Given the description of an element on the screen output the (x, y) to click on. 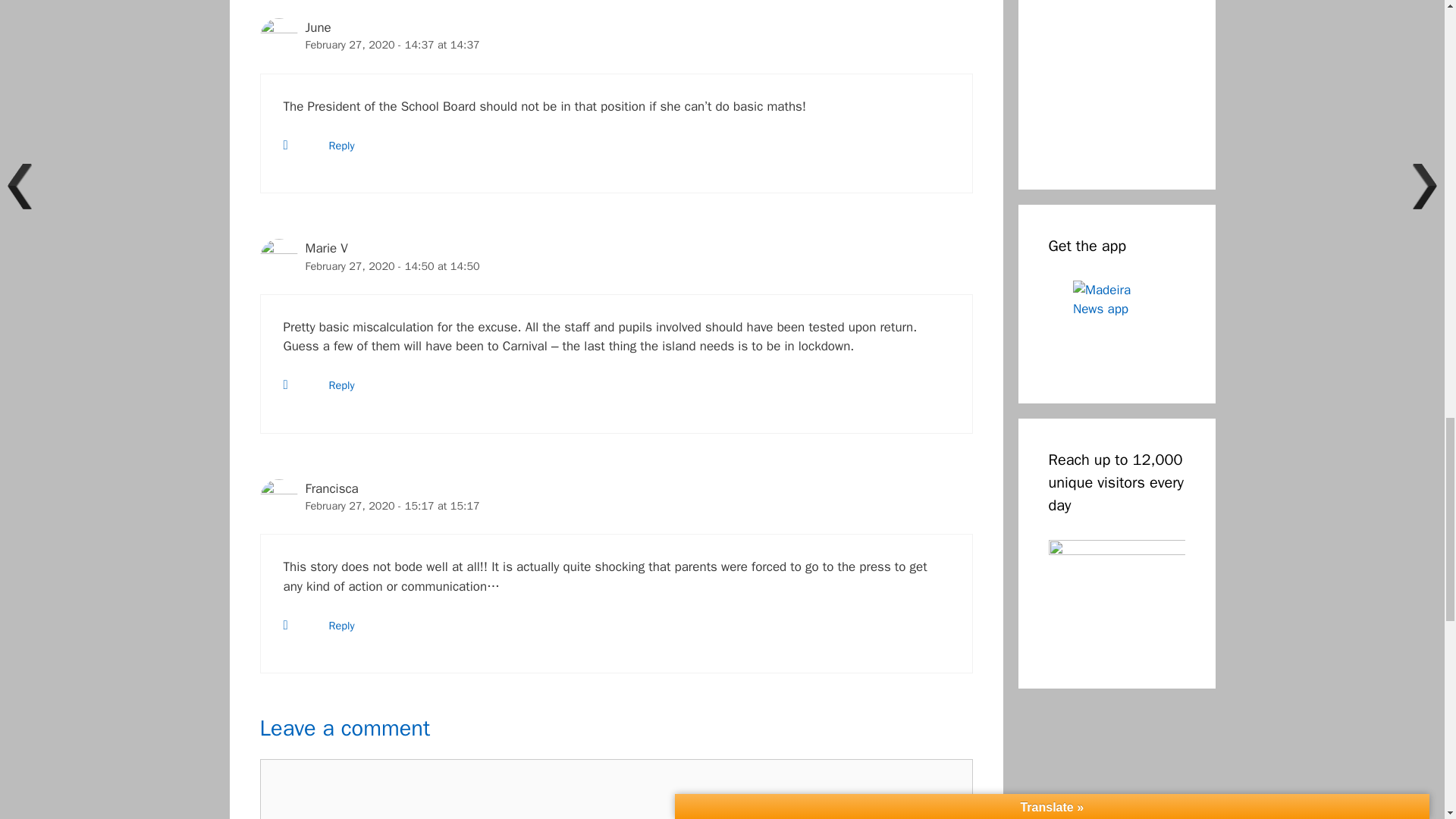
February 27, 2020 - 15:17 at 15:17 (391, 505)
Reply (342, 145)
February 27, 2020 - 14:50 at 14:50 (391, 265)
Reply (342, 625)
Reply (342, 385)
February 27, 2020 - 14:37 at 14:37 (391, 44)
